Given the description of an element on the screen output the (x, y) to click on. 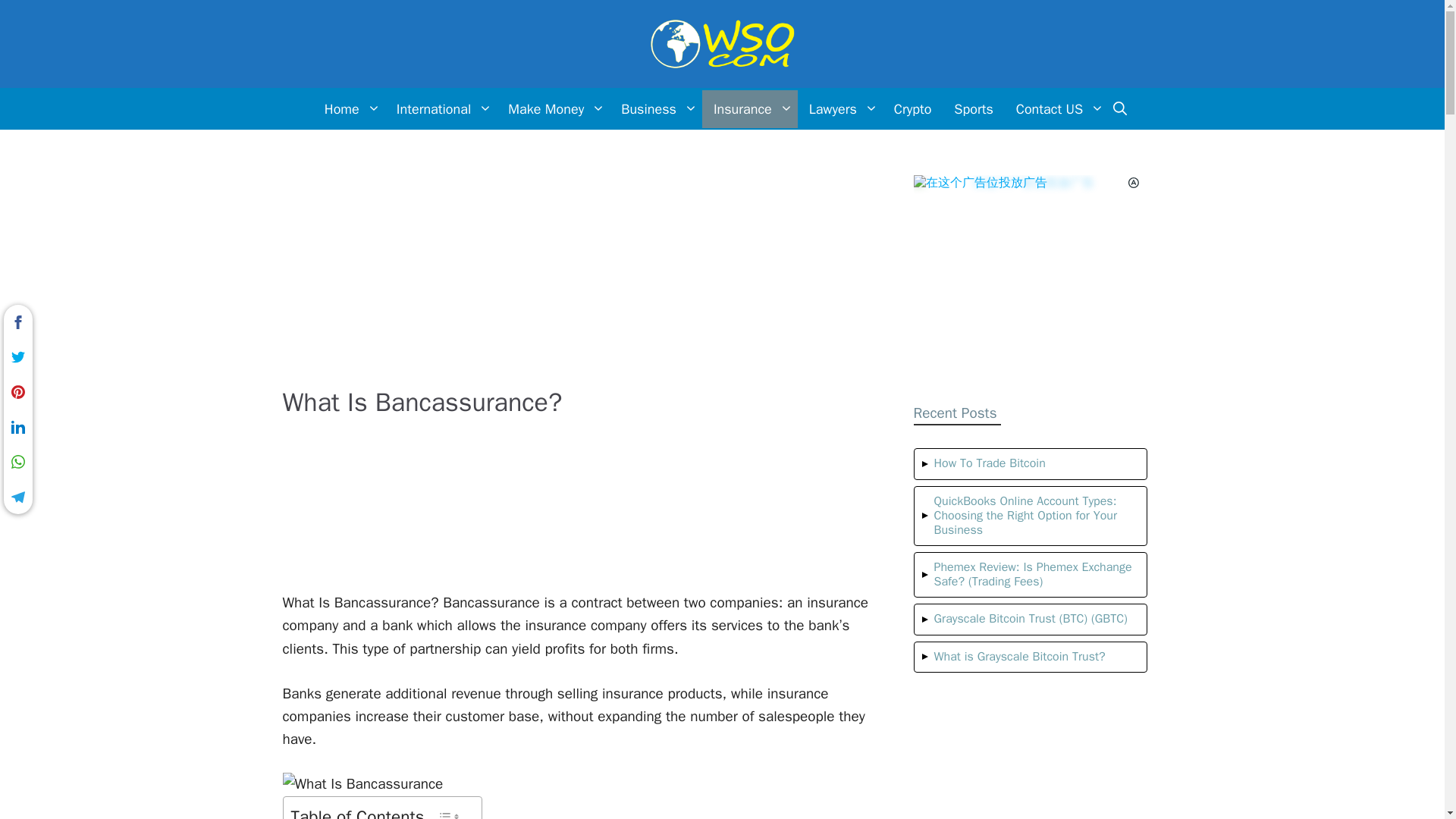
Home (349, 108)
Insurance (749, 108)
Make Money (553, 108)
International (440, 108)
Business (655, 108)
